Given the description of an element on the screen output the (x, y) to click on. 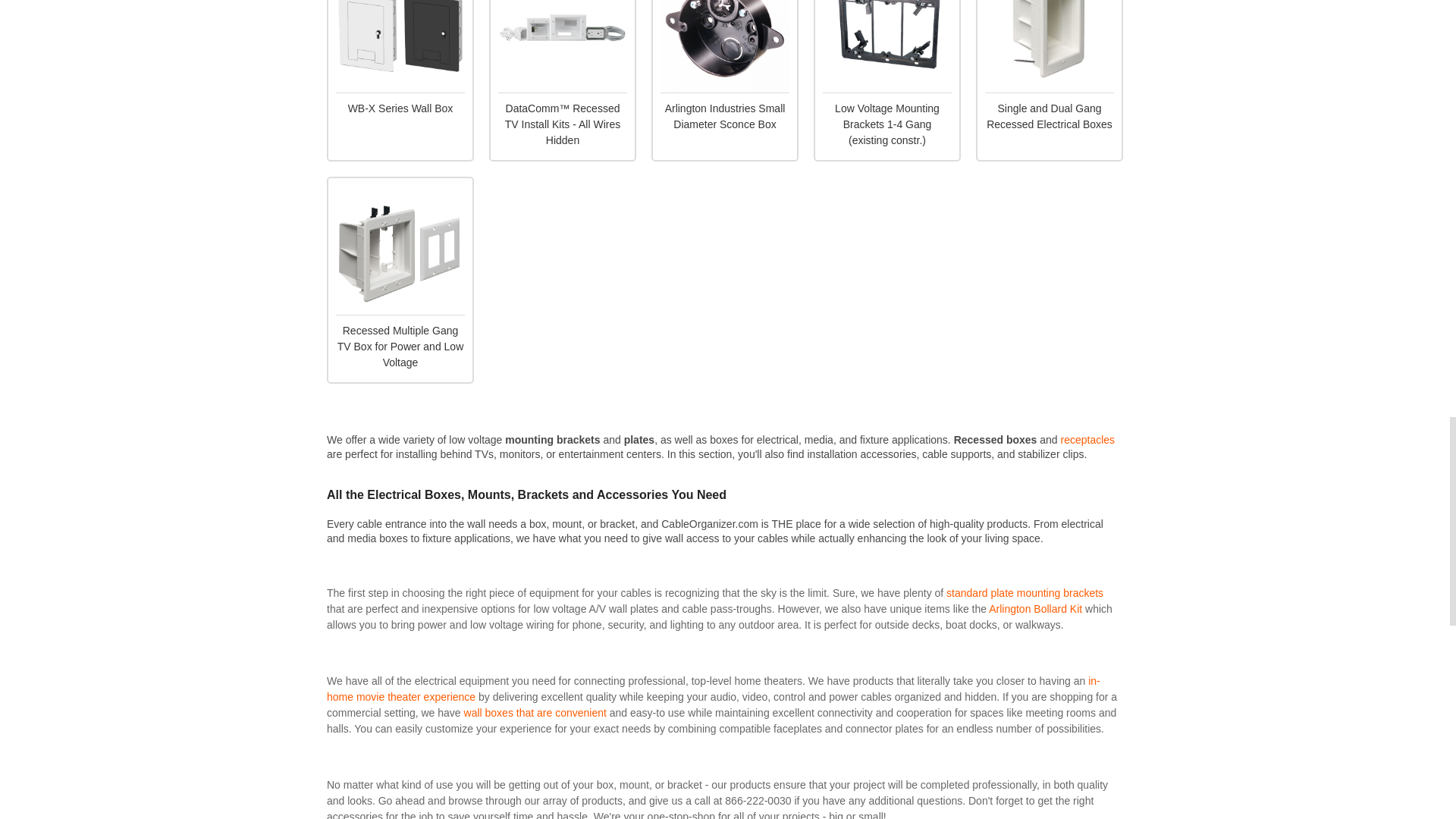
Wall boxes for commercial settings (535, 712)
Kit for bringing power and wiring ourdoors (1034, 608)
Improve your in-home movie theater experience (713, 688)
Electrical Receptacles variety (1088, 440)
